Given the description of an element on the screen output the (x, y) to click on. 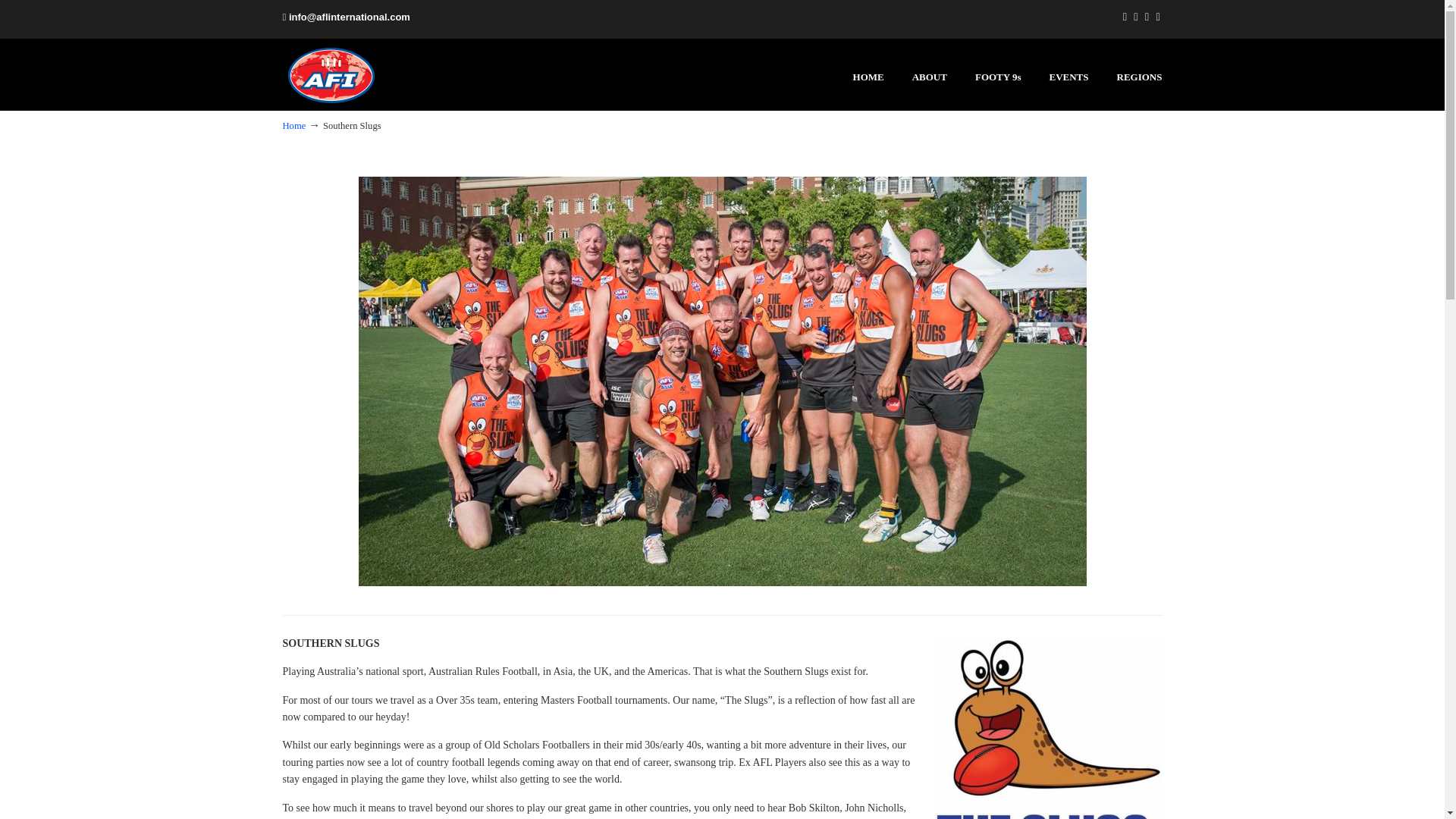
EVENTS (1068, 77)
REGIONS (1139, 77)
ABOUT (929, 77)
AFL International (339, 75)
AFL International (339, 75)
FOOTY 9s (997, 77)
HOME (868, 77)
Home (293, 125)
